Given the description of an element on the screen output the (x, y) to click on. 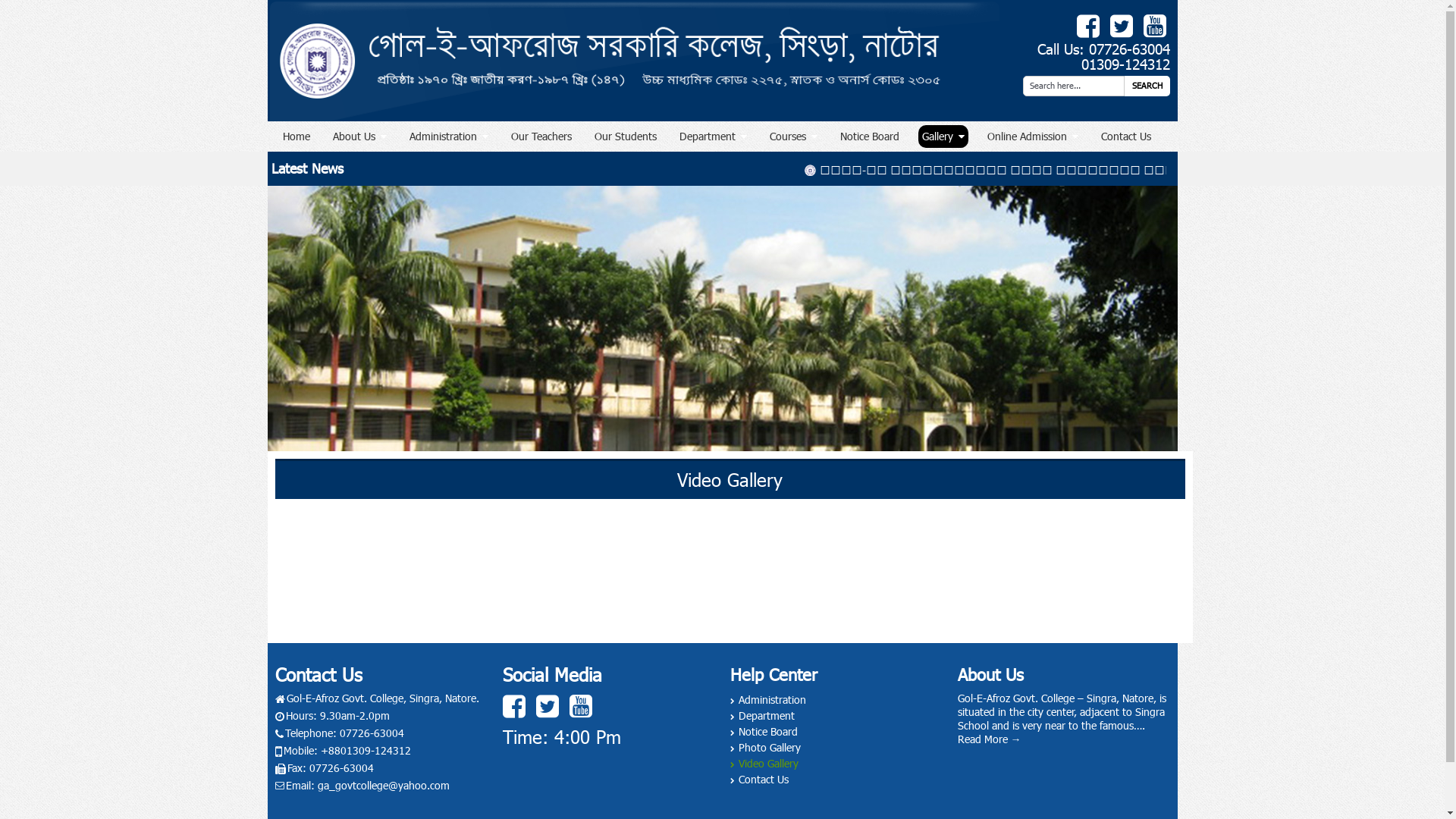
Our Teachers Element type: text (540, 136)
Photo Gallery Element type: text (764, 746)
ga_govtcollege@yahoo.com Element type: text (382, 784)
Courses Element type: text (793, 136)
Notice Board Element type: text (763, 730)
Administration Element type: text (767, 699)
Home Element type: text (296, 136)
Online Admission Element type: text (1031, 136)
Search Element type: text (1146, 85)
Video Gallery Element type: text (763, 762)
Department Element type: text (761, 715)
Administration Element type: text (447, 136)
Contact Us Element type: text (758, 778)
Gallery Element type: text (942, 136)
Our Students Element type: text (624, 136)
Contact Us Element type: text (1125, 136)
About Us Element type: text (359, 136)
Department Element type: text (711, 136)
Notice Board Element type: text (868, 136)
